Given the description of an element on the screen output the (x, y) to click on. 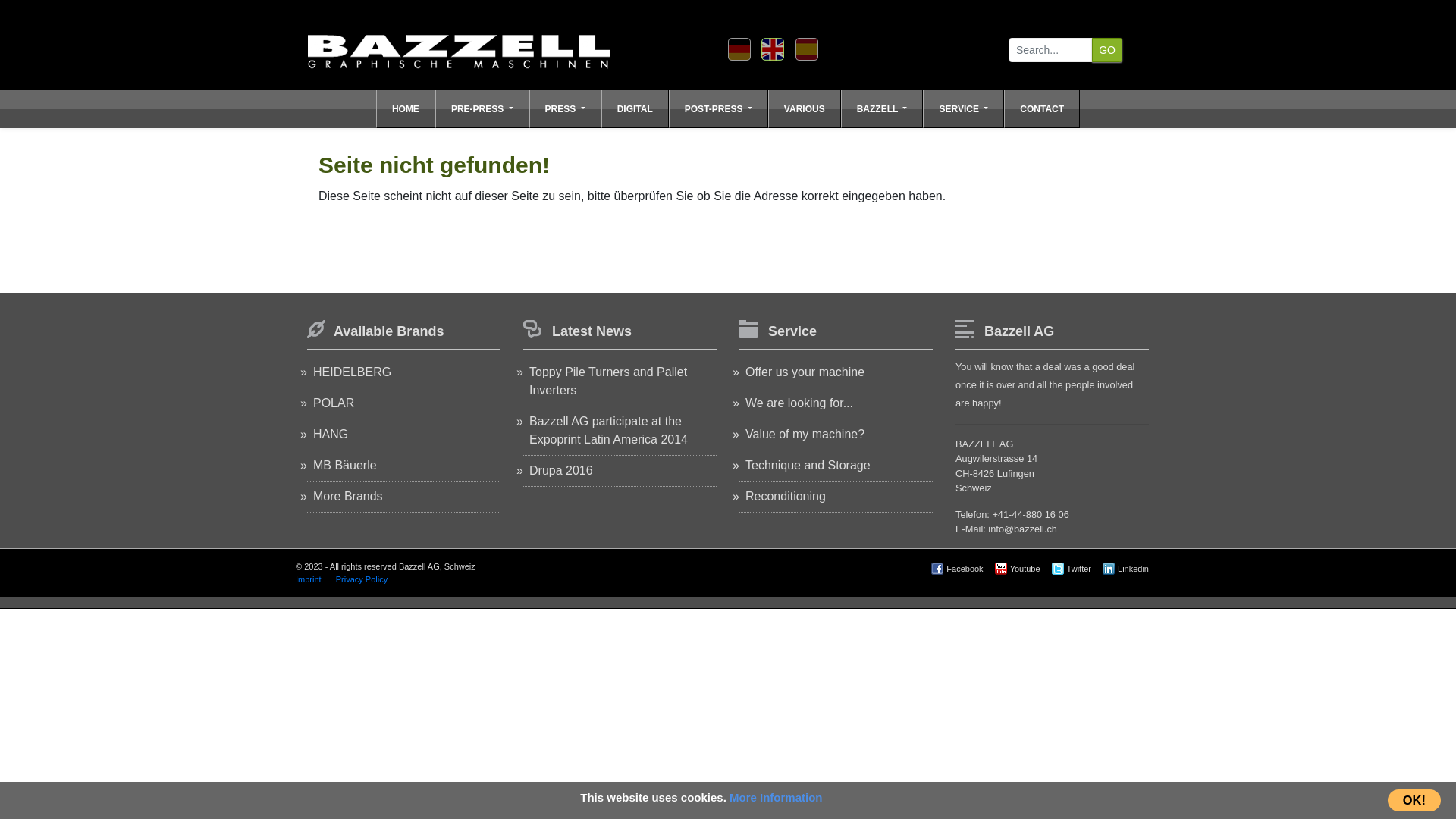
OK! Element type: text (1413, 800)
Technique and Storage Element type: text (807, 464)
Value of my machine? Element type: text (804, 433)
HANG Element type: text (330, 433)
Offer us your machine Element type: text (804, 371)
Linkedin Element type: text (1127, 568)
VARIOUS Element type: text (804, 109)
SERVICE Element type: text (963, 109)
PRE-PRESS Element type: text (482, 109)
Drupa 2016 Element type: text (561, 470)
We are looking for... Element type: text (799, 402)
deutsch Element type: hover (739, 48)
DIGITAL Element type: text (634, 109)
CONTACT Element type: text (1041, 109)
Twitter Element type: text (1073, 568)
POLAR Element type: text (333, 402)
HEIDELBERG Element type: text (352, 371)
POST-PRESS Element type: text (718, 109)
Bazzell AG Element type: hover (458, 43)
HOME Element type: text (405, 109)
BAZZELL Element type: text (881, 109)
More Information Element type: text (775, 796)
Toppy Pile Turners and Pallet Inverters Element type: text (608, 380)
Imprint Element type: text (308, 578)
Facebook Element type: text (958, 568)
Privacy Policy Element type: text (361, 578)
Reconditioning Element type: text (785, 495)
PRESS Element type: text (565, 109)
english Element type: hover (772, 48)
More Brands Element type: text (347, 495)
Bazzell AG participate at the Expoprint Latin America 2014 Element type: text (608, 429)
GO Element type: text (1107, 49)
Youtube Element type: text (1019, 568)
